Given the description of an element on the screen output the (x, y) to click on. 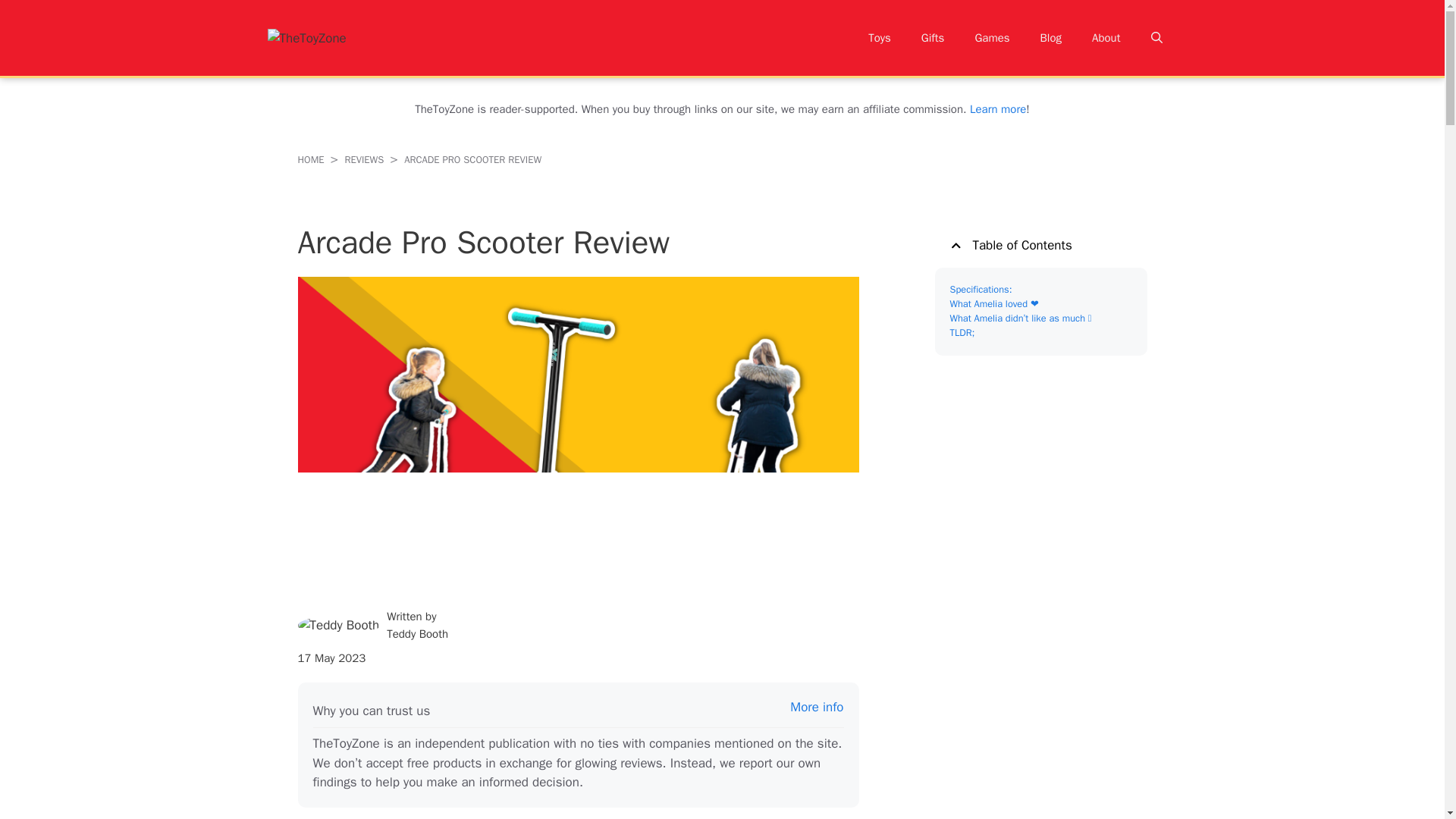
Gifts (932, 37)
About (1106, 37)
Learn more (997, 109)
Toys (879, 37)
HOME (310, 159)
More info (816, 706)
Games (992, 37)
REVIEWS (363, 159)
Blog (1051, 37)
